Given the description of an element on the screen output the (x, y) to click on. 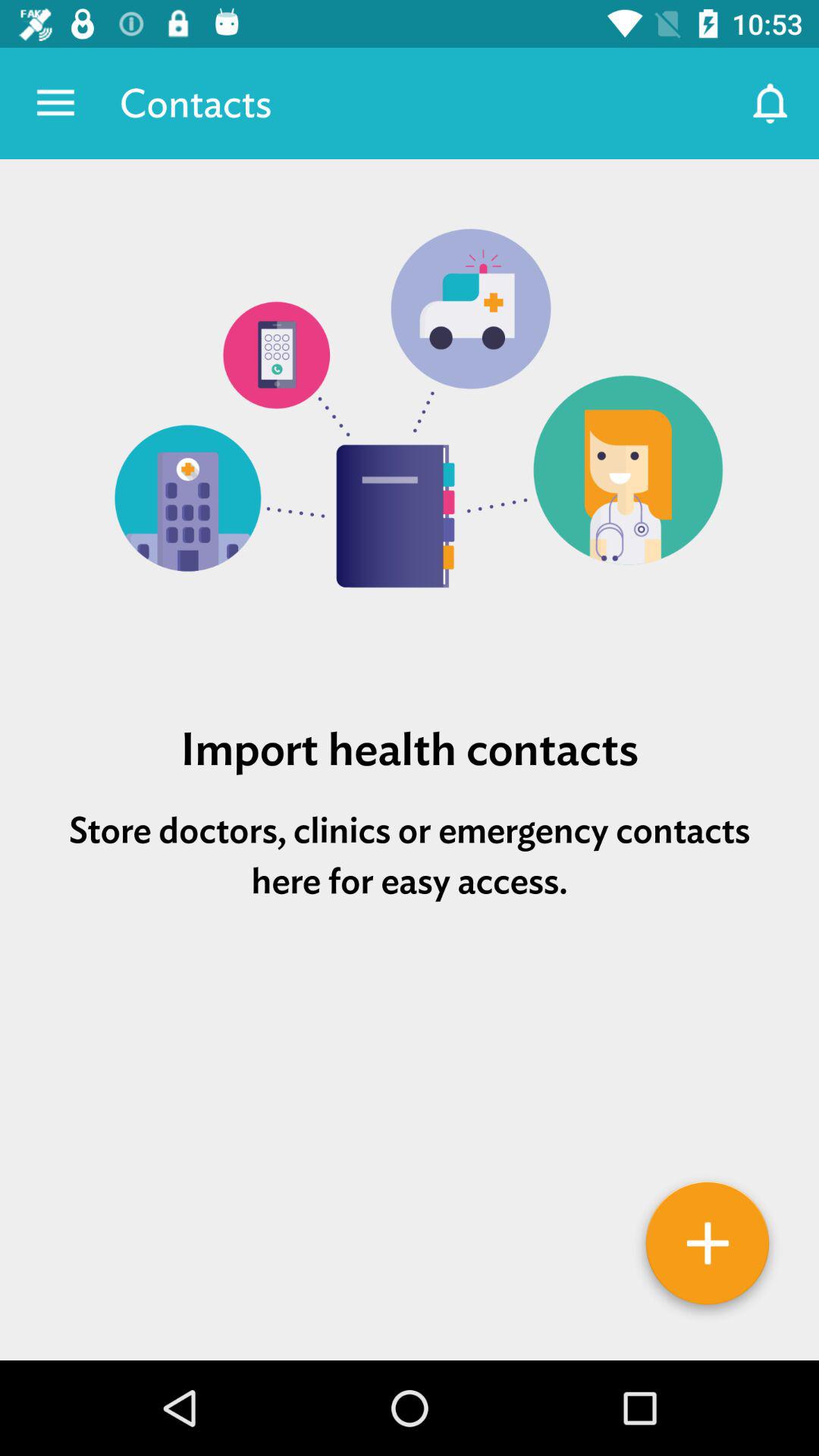
choose the app next to contacts app (55, 103)
